Given the description of an element on the screen output the (x, y) to click on. 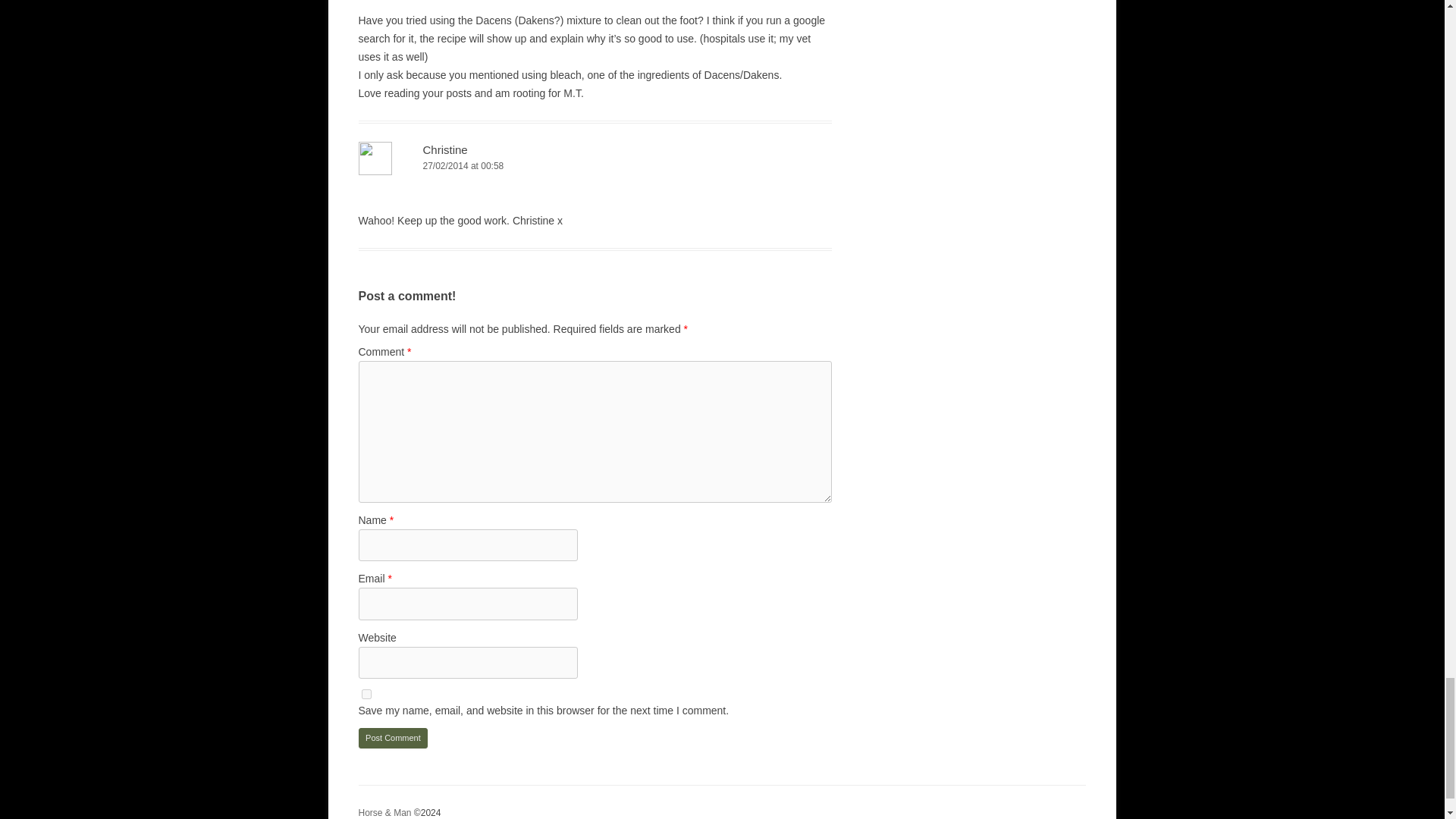
Post Comment (393, 738)
yes (366, 694)
Post Comment (393, 738)
